Given the description of an element on the screen output the (x, y) to click on. 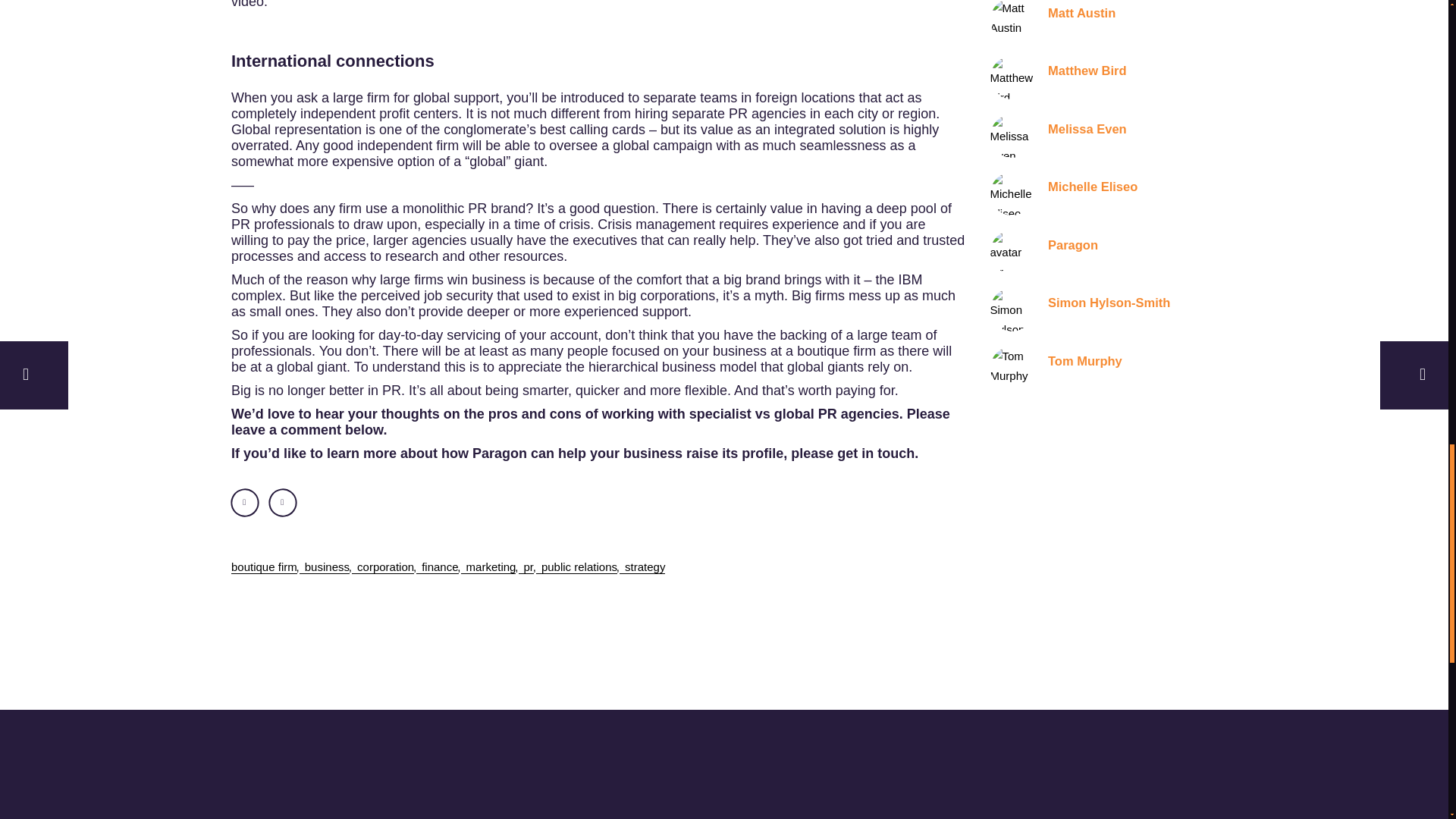
Michelle Eliseo (1064, 193)
Matt Austin (1053, 22)
Tom Murphy (1056, 367)
Melissa Even (1058, 135)
Matthew Bird (1058, 77)
Paragon (1044, 252)
Simon Hylson-Smith (1080, 309)
